Given the description of an element on the screen output the (x, y) to click on. 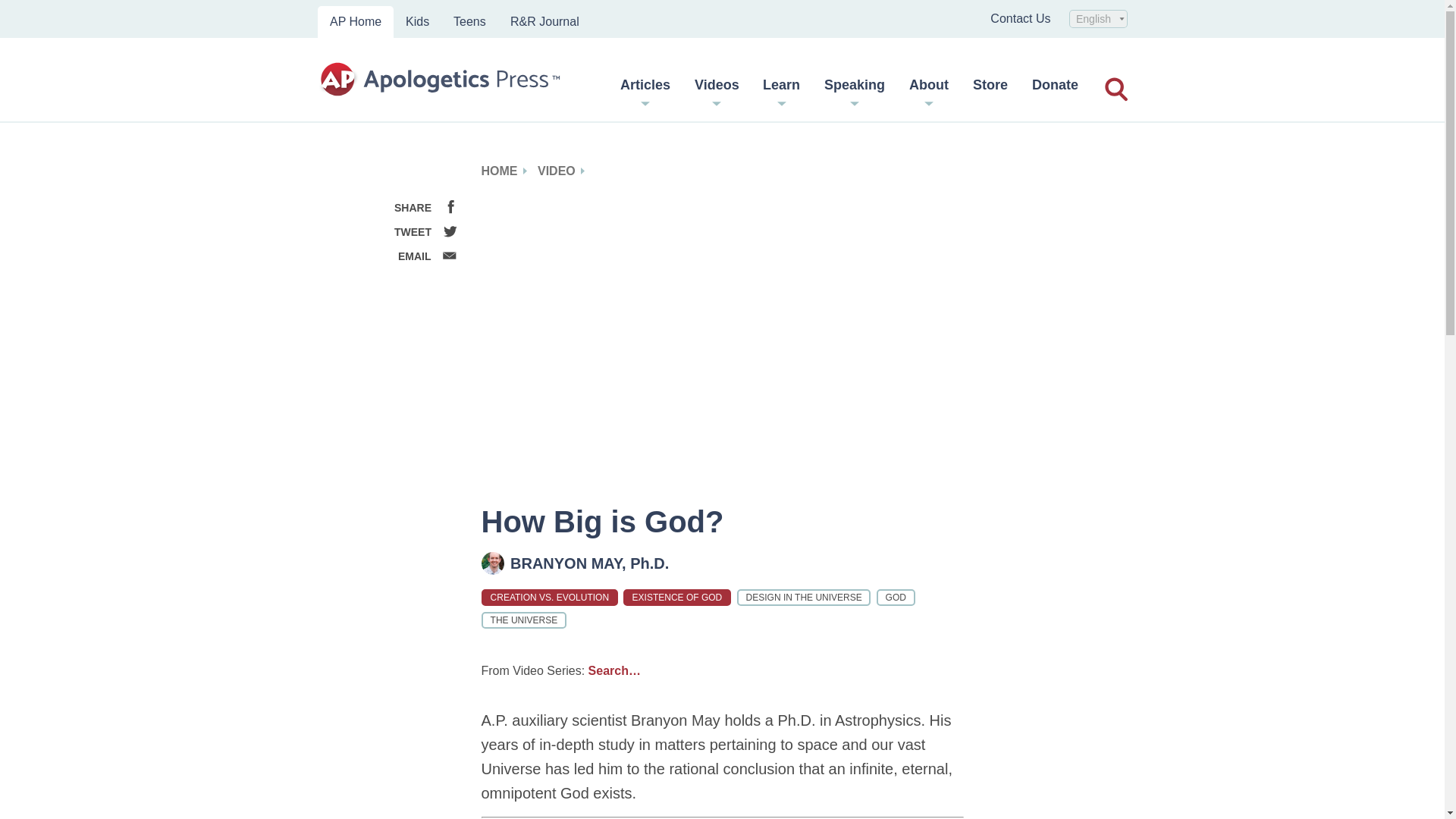
Contact Us (1019, 18)
Apologetics Press (439, 79)
Kids (417, 21)
Videos (716, 90)
AP Home (355, 21)
Teens (469, 21)
Articles (645, 90)
